Given the description of an element on the screen output the (x, y) to click on. 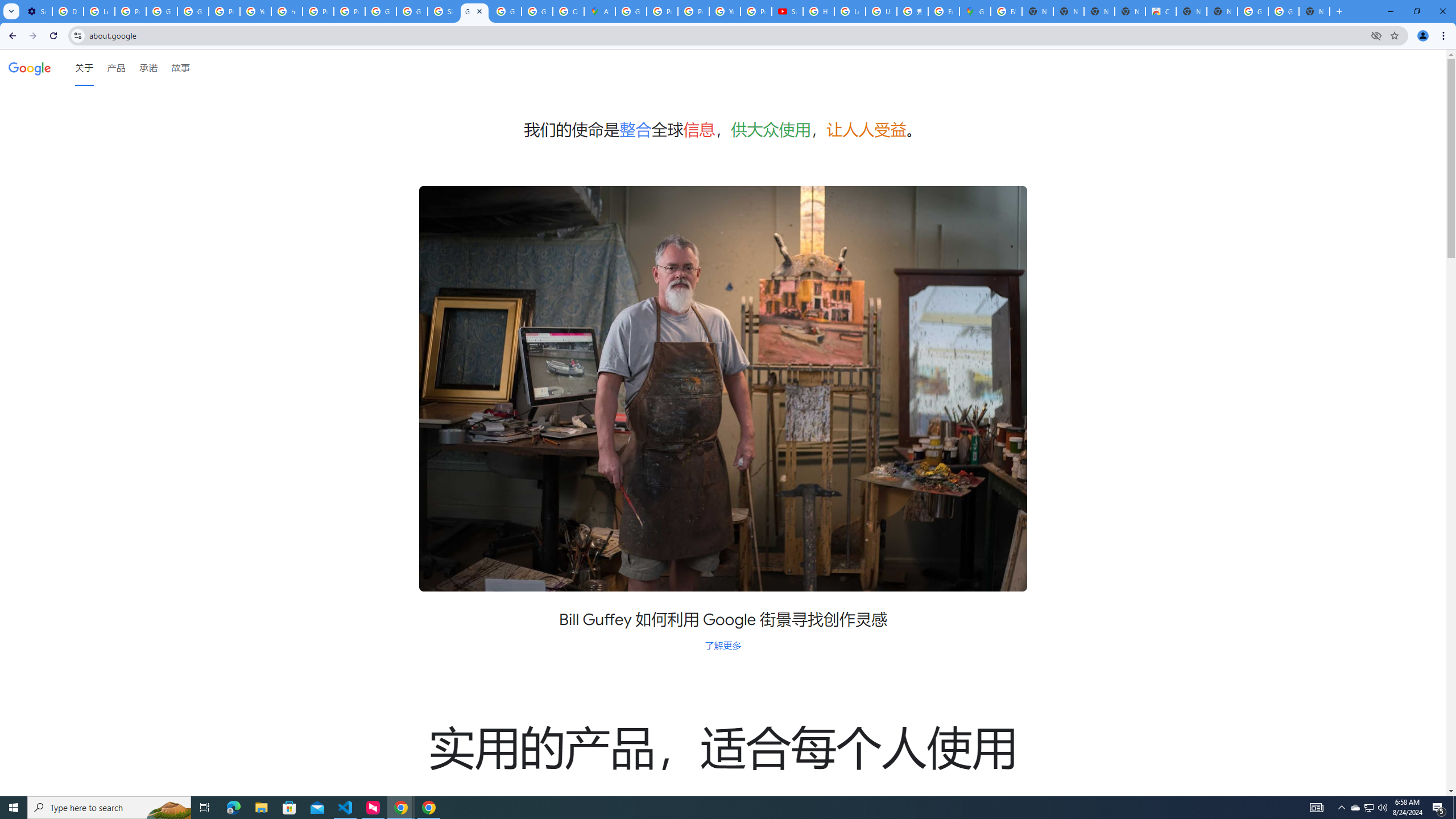
Privacy Help Center - Policies Help (318, 11)
Privacy Help Center - Policies Help (693, 11)
Explore new street-level details - Google Maps Help (943, 11)
Delete photos & videos - Computer - Google Photos Help (67, 11)
